Given the description of an element on the screen output the (x, y) to click on. 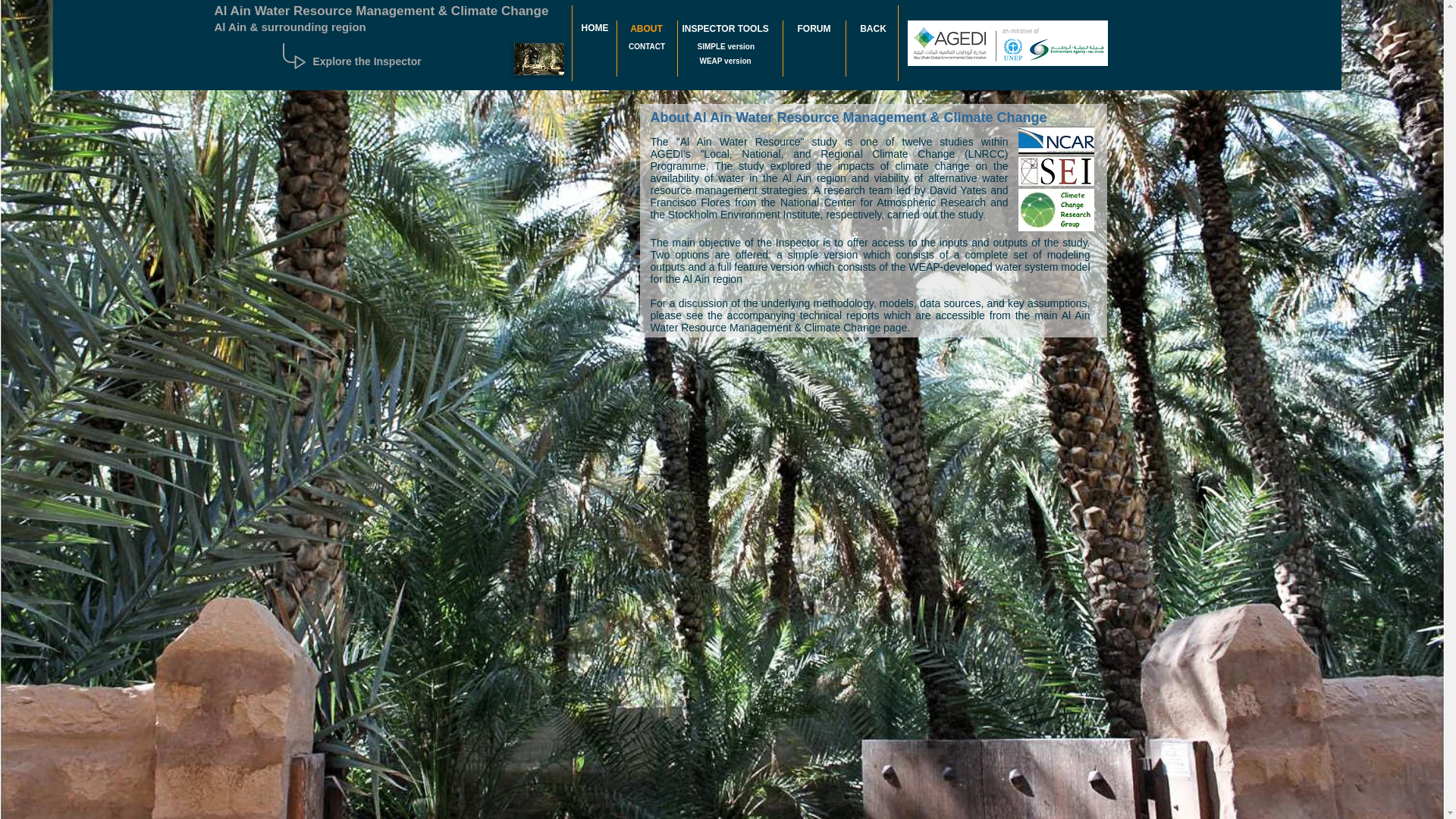
WEAP version (724, 60)
FORUM (813, 28)
HOME (594, 27)
INSPECTOR TOOLS (725, 28)
BACK (873, 28)
CONTACT (646, 46)
al ain falaj.jpg (539, 58)
SIMPLE version (726, 46)
